Given the description of an element on the screen output the (x, y) to click on. 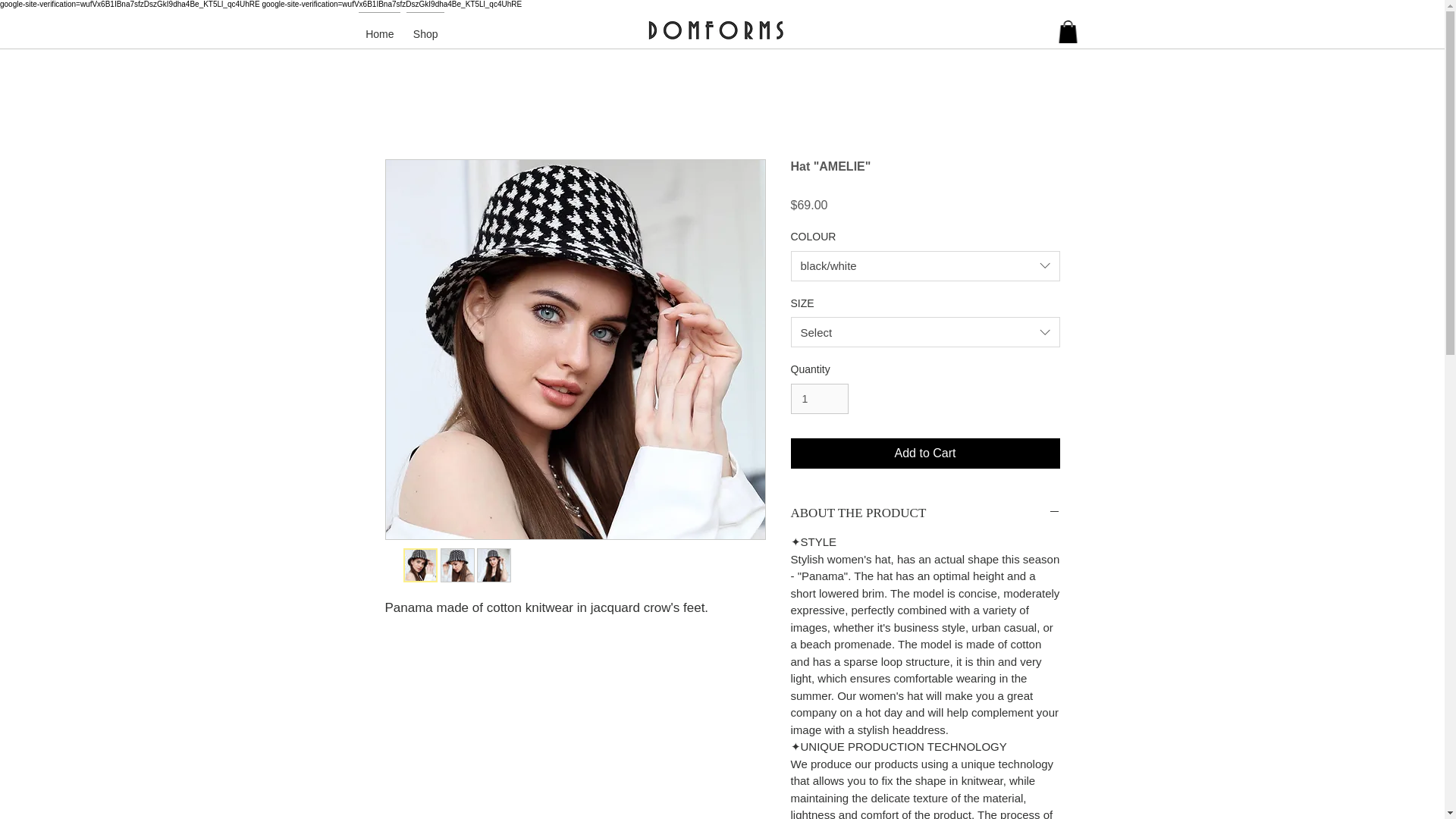
Add to Cart (924, 453)
Select (924, 331)
Shop (424, 27)
1 (818, 399)
Home (379, 27)
ABOUT THE PRODUCT (924, 512)
